Given the description of an element on the screen output the (x, y) to click on. 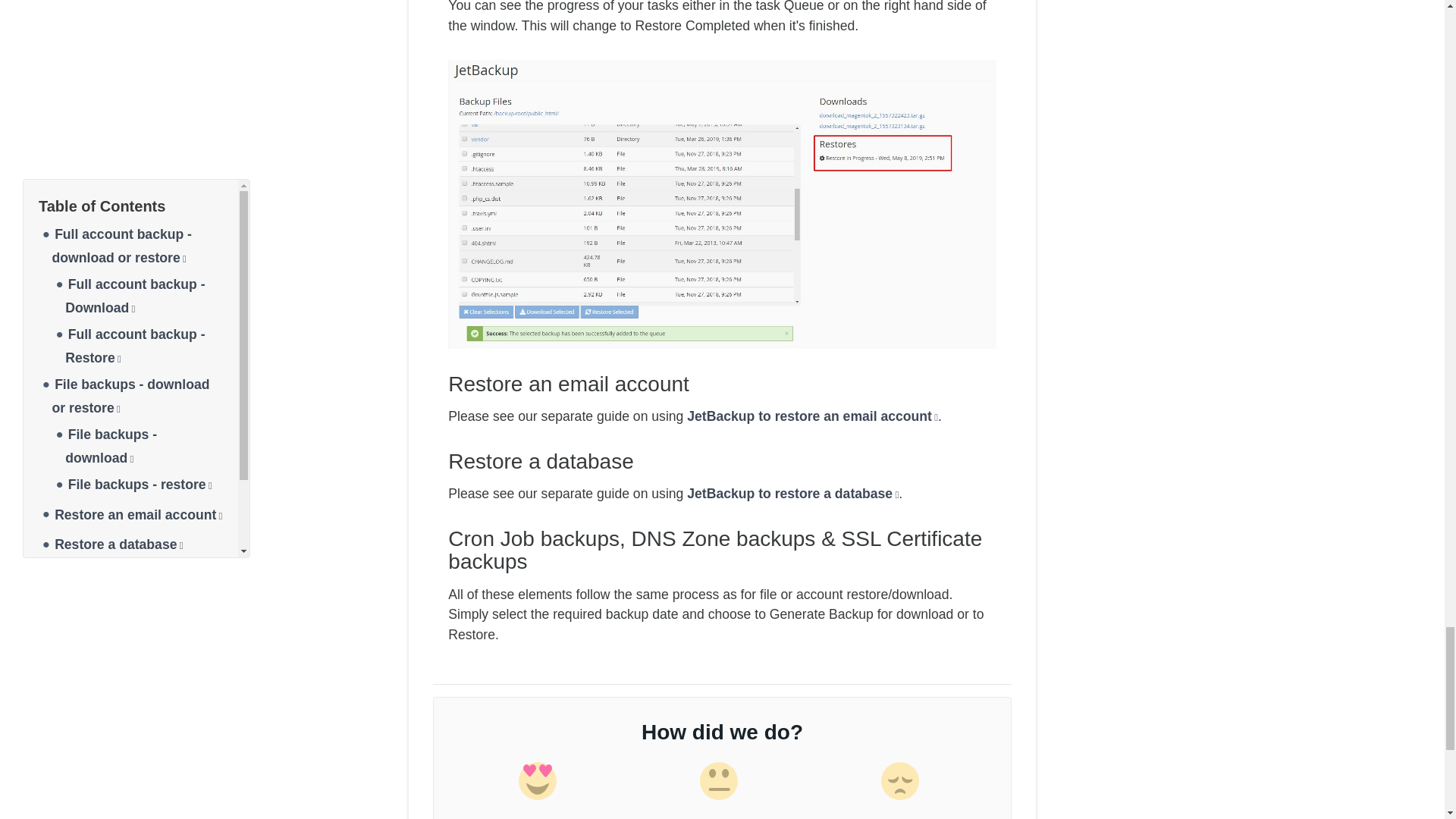
JetBackup to restore an email account (812, 416)
JetBackup to restore a database (792, 493)
